Given the description of an element on the screen output the (x, y) to click on. 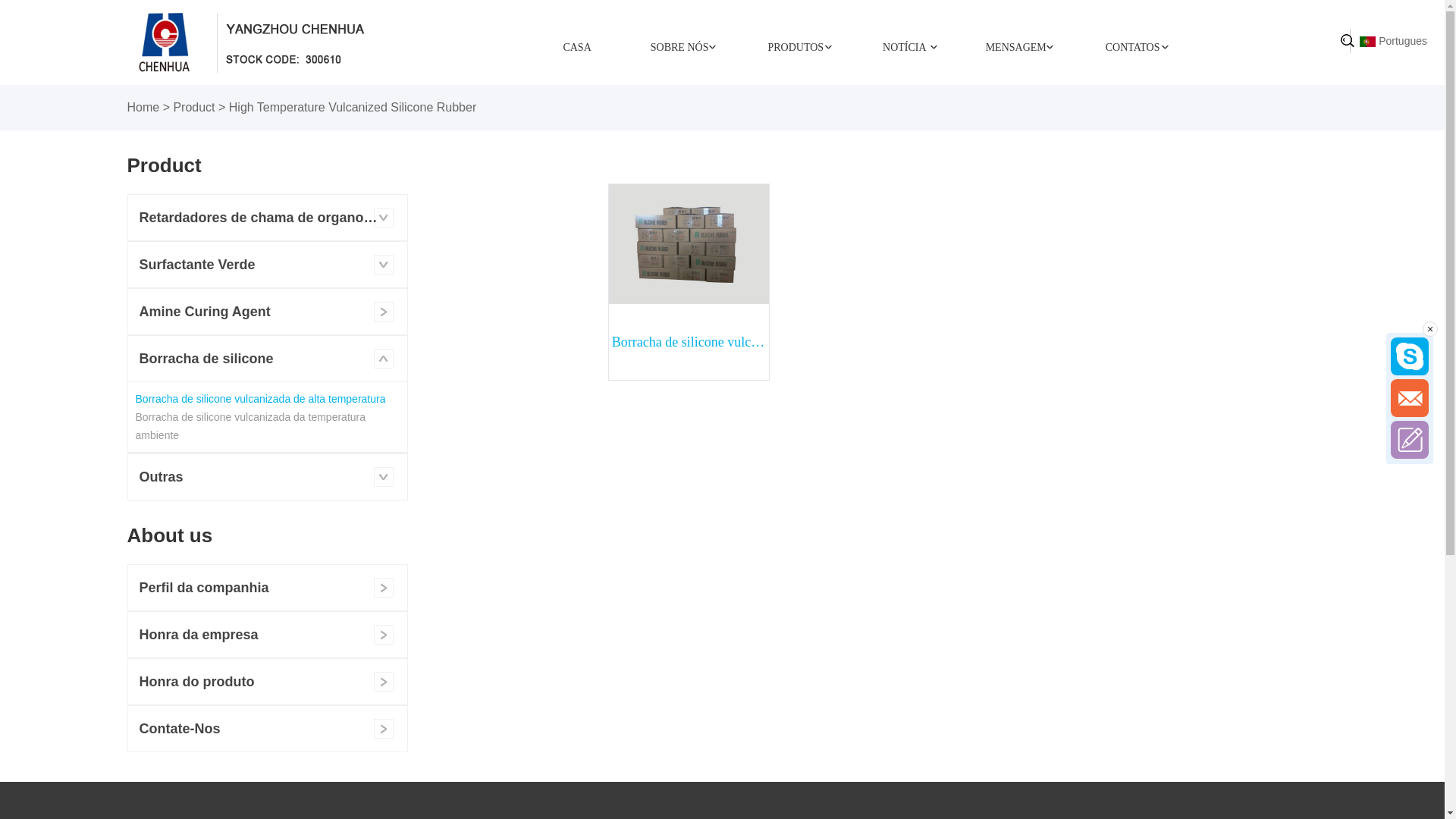
Surfactante Verde Element type: text (266, 264)
Borracha de silicone Element type: text (266, 358)
CASA Element type: text (576, 46)
Contate-Nos Element type: text (266, 728)
PRODUTOS Element type: text (795, 46)
Portugues Element type: text (1393, 40)
Home Element type: text (143, 106)
Retardadores de chama de organofosforados Element type: text (266, 217)
Perfil da companhia Element type: text (266, 587)
Amine Curing Agent Element type: text (266, 311)
Honra da empresa Element type: text (266, 634)
Honra do produto Element type: text (266, 681)
CONTATOS Element type: text (1132, 46)
Product Element type: text (193, 106)
High Temperature Vulcanized Silicone Rubber Element type: text (352, 106)
Portugues Element type: hover (1367, 41)
Borracha de silicone vulcanizada de alta temperatura Element type: text (259, 398)
Outras Element type: text (266, 476)
MENSAGEM Element type: text (1016, 46)
Borracha de silicone vulcanizada da temperatura ambiente Element type: text (249, 426)
